Given the description of an element on the screen output the (x, y) to click on. 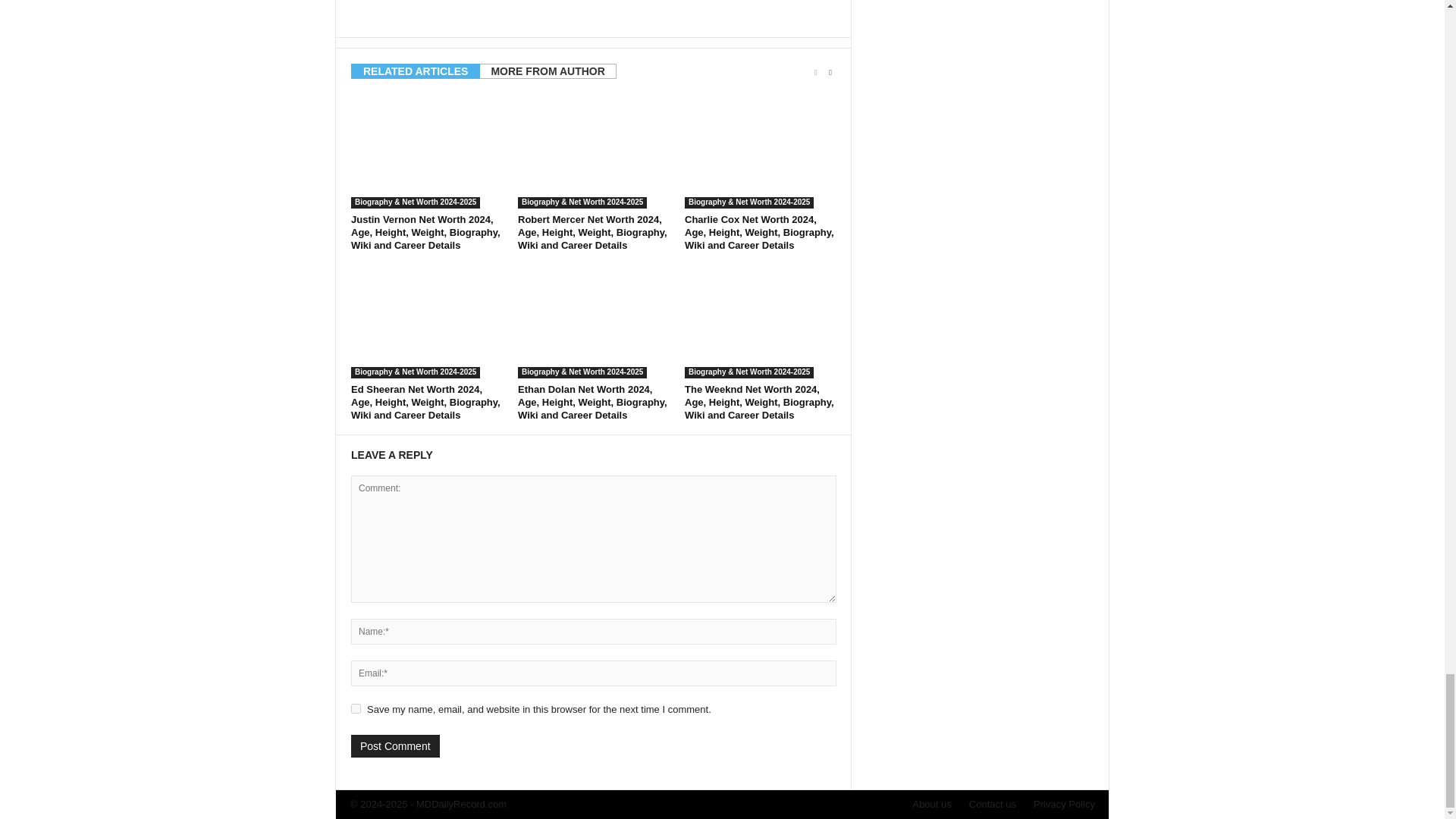
yes (355, 708)
RELATED ARTICLES (415, 70)
